Given the description of an element on the screen output the (x, y) to click on. 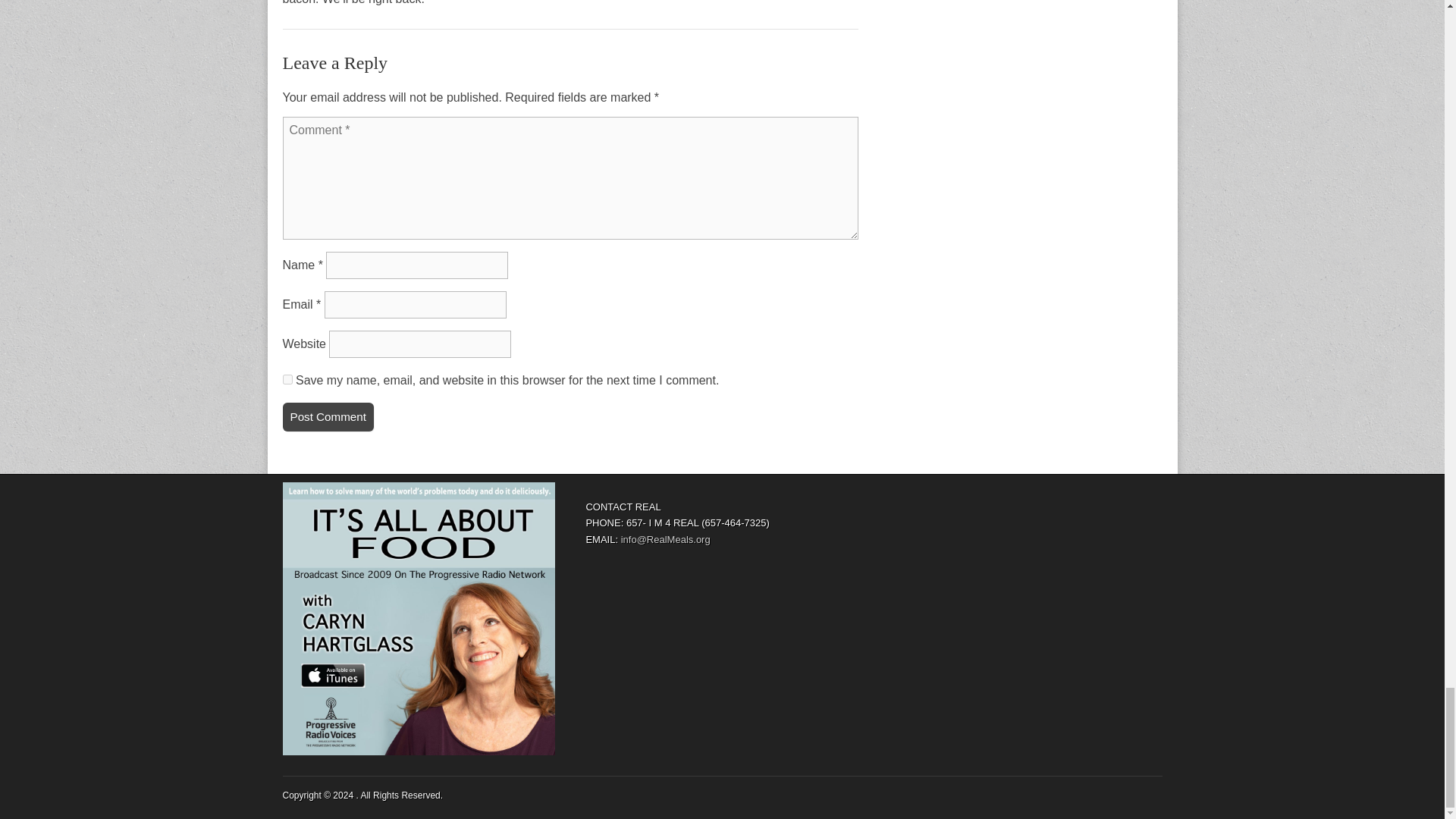
Post Comment (327, 416)
yes (287, 379)
Listen on Itunes (418, 618)
